Given the description of an element on the screen output the (x, y) to click on. 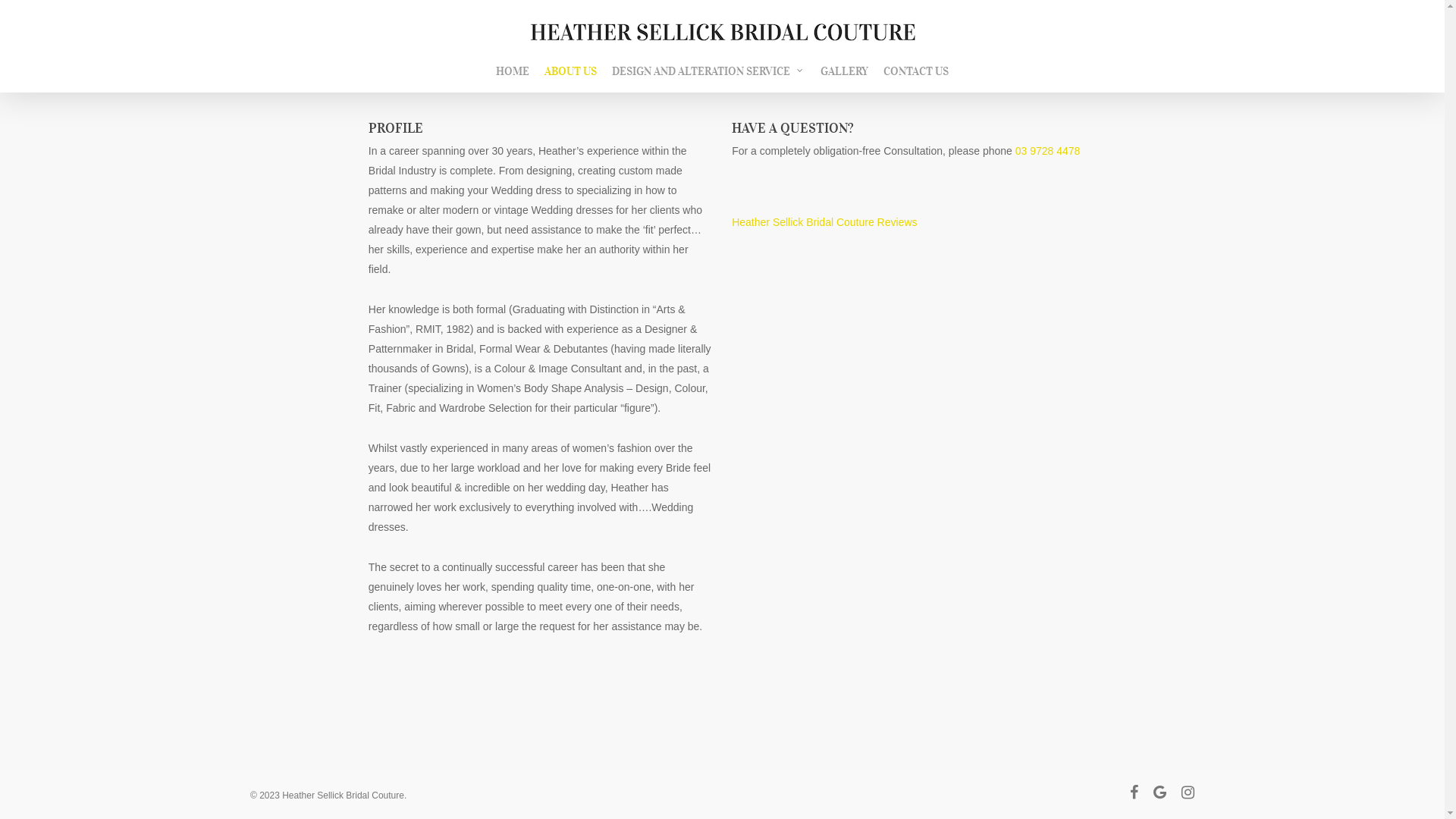
ABOUT US Element type: text (570, 78)
google-plus Element type: text (1159, 793)
facebook Element type: text (1133, 793)
CONTACT US Element type: text (915, 78)
GALLERY Element type: text (843, 78)
instagram Element type: text (1187, 793)
HOME Element type: text (512, 78)
03 9728 4478 Element type: text (1047, 150)
Heather Sellick Bridal Couture Reviews Element type: text (962, 222)
DESIGN AND ALTERATION SERVICE Element type: text (708, 78)
